Given the description of an element on the screen output the (x, y) to click on. 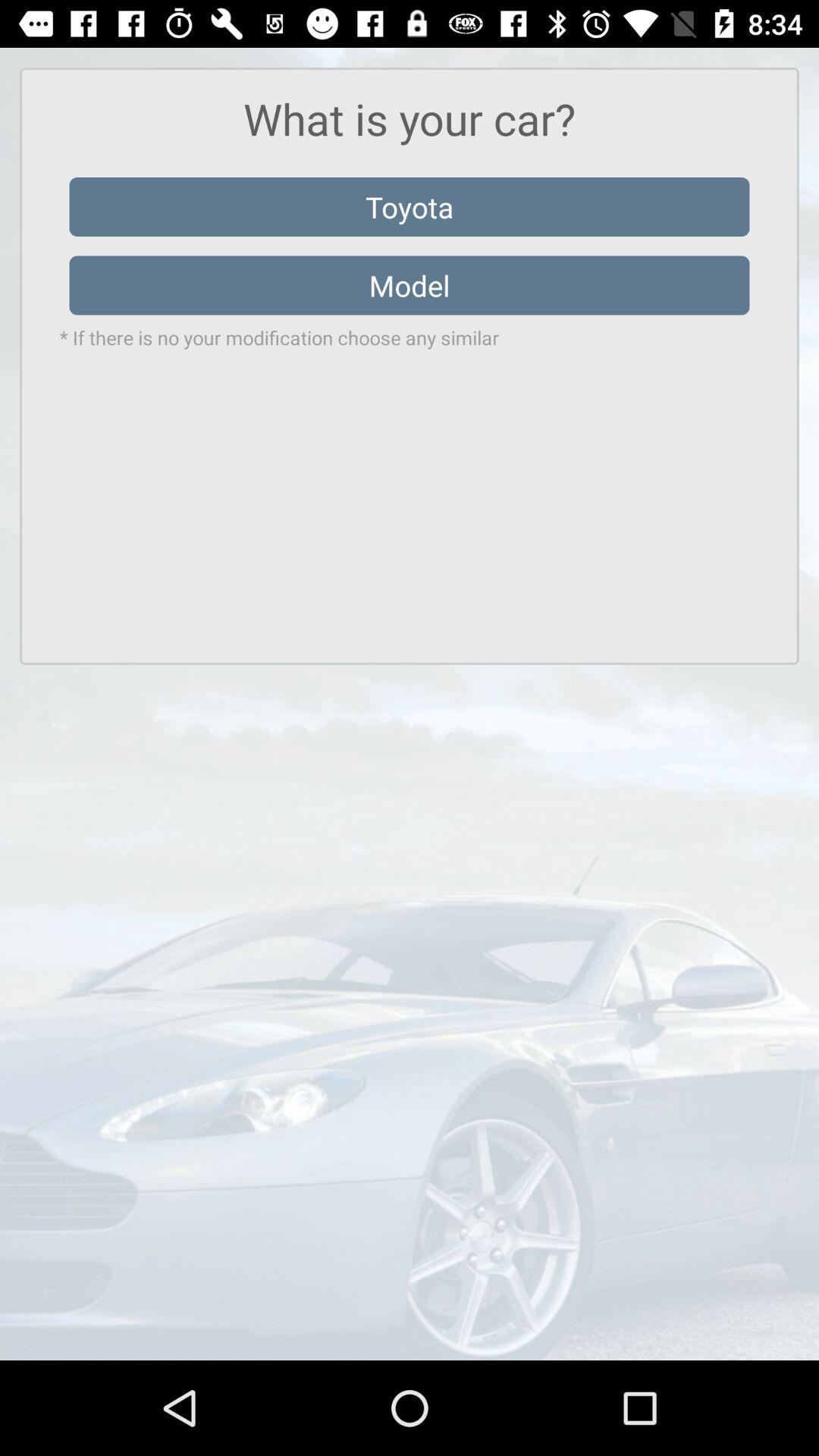
select the item below what is your item (409, 206)
